Given the description of an element on the screen output the (x, y) to click on. 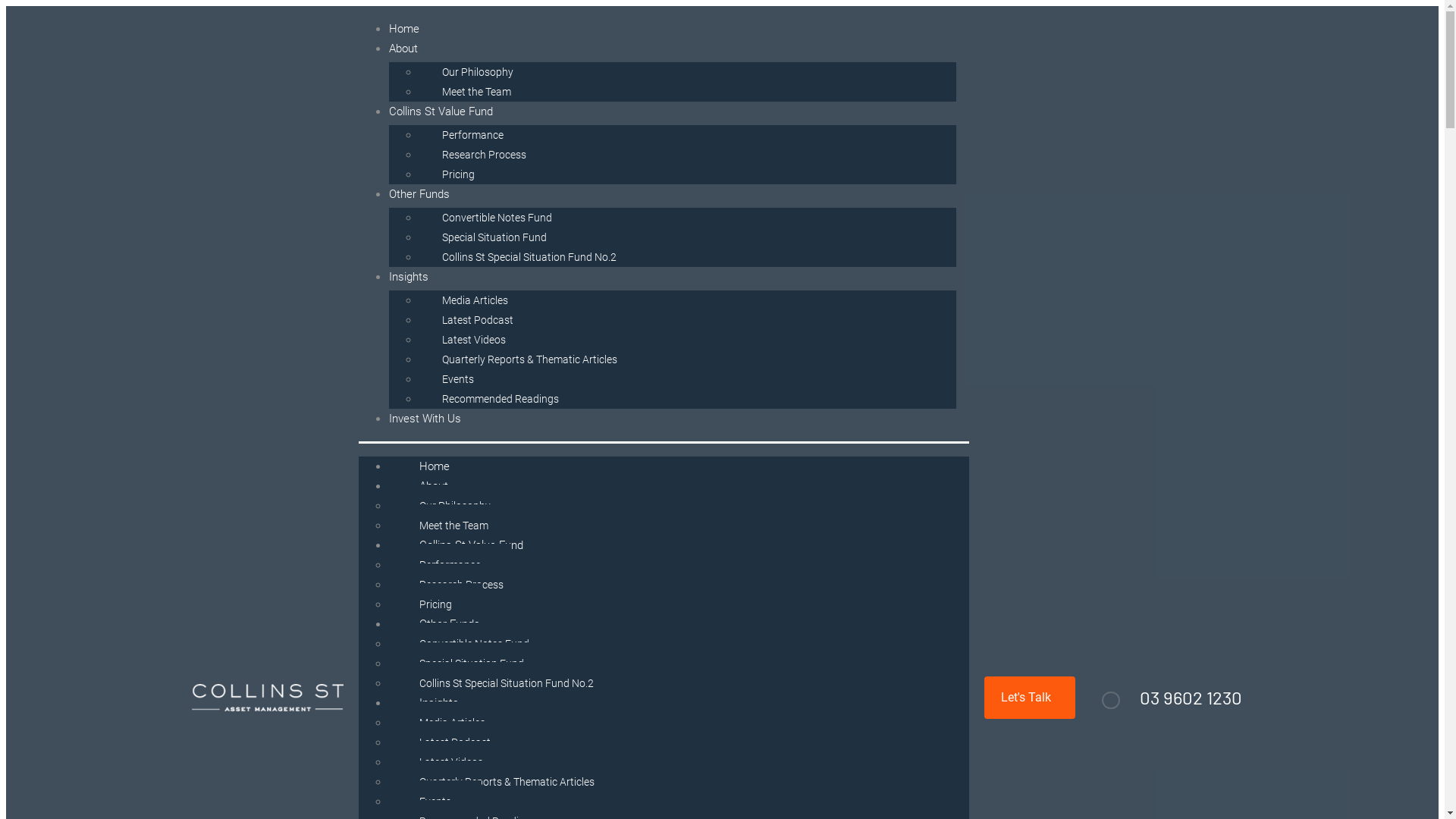
Our Philosophy Element type: text (476, 71)
Events Element type: text (456, 378)
Research Process Element type: text (483, 154)
Latest Videos Element type: text (450, 761)
Collins St Special Situation Fund No.2 Element type: text (505, 683)
Collins St Special Situation Fund No.2 Element type: text (528, 256)
Pricing Element type: text (457, 174)
Home Element type: text (433, 466)
Other Funds Element type: text (448, 624)
Let's Talk Element type: text (1029, 697)
Convertible Notes Fund Element type: text (473, 643)
Meet the Team Element type: text (475, 91)
Other Funds Element type: text (418, 194)
Our Philosophy Element type: text (454, 505)
Insights Element type: text (438, 702)
Collins St Value Fund Element type: text (470, 545)
Special Situation Fund Element type: text (493, 237)
About Element type: text (432, 486)
Pricing Element type: text (434, 604)
Recommended Readings Element type: text (499, 398)
03 9602 1230 Element type: text (1190, 697)
Invest With Us Element type: text (424, 418)
Collins St Value Fund Element type: text (440, 111)
Latest Podcast Element type: text (454, 742)
Special Situation Fund Element type: text (470, 663)
About Element type: text (402, 48)
Media Articles Element type: text (451, 722)
Performance Element type: text (449, 564)
Performance Element type: text (471, 134)
Quarterly Reports & Thematic Articles Element type: text (506, 781)
Research Process Element type: text (460, 584)
Insights Element type: text (407, 276)
Meet the Team Element type: text (452, 525)
Quarterly Reports & Thematic Articles Element type: text (528, 359)
Convertible Notes Fund Element type: text (496, 217)
Latest Podcast Element type: text (476, 319)
Media Articles Element type: text (474, 300)
Latest Videos Element type: text (472, 339)
